Given the description of an element on the screen output the (x, y) to click on. 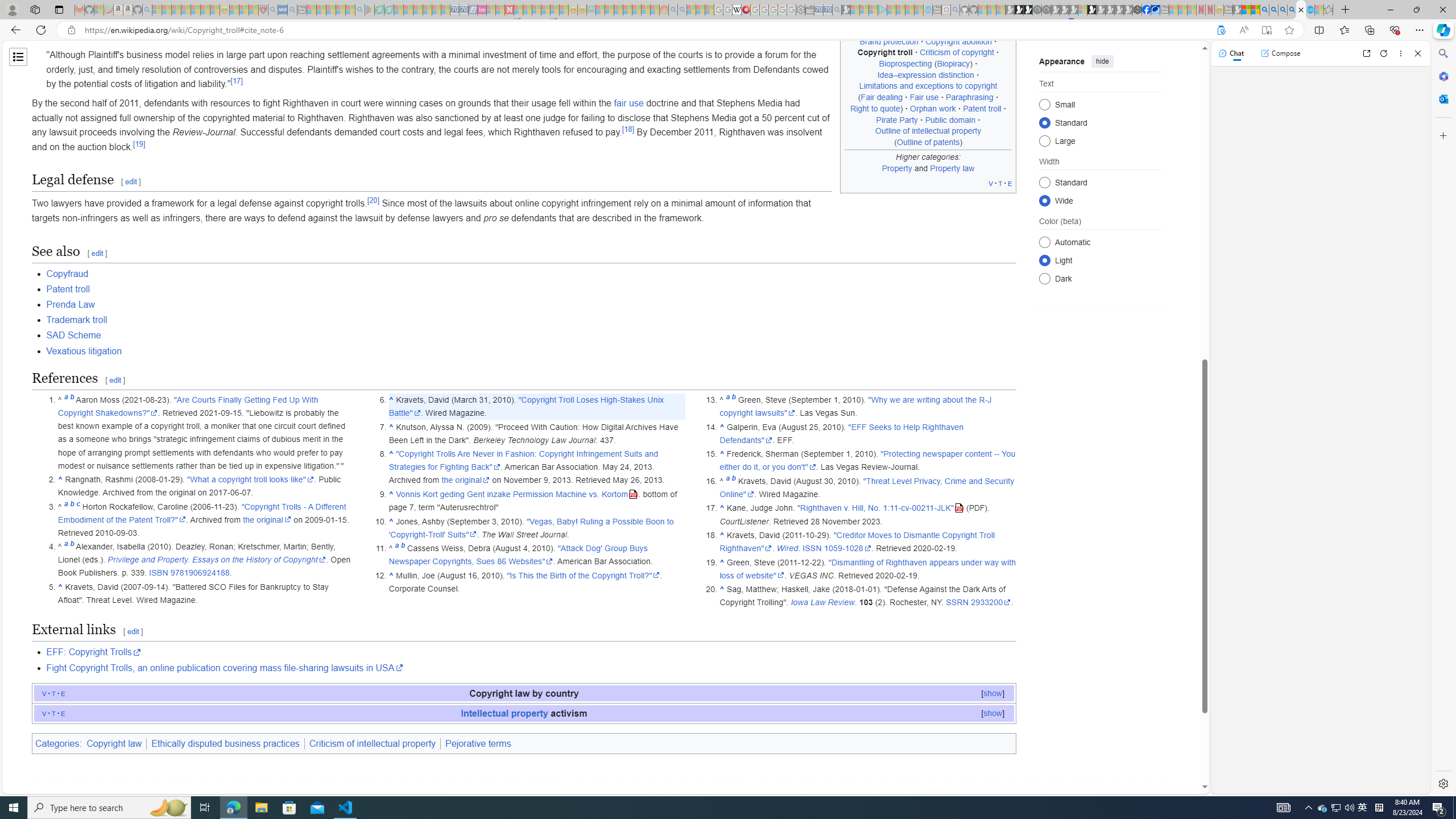
Utah sues federal government - Search - Sleeping (681, 9)
Bing Real Estate - Home sales and rental listings - Sleeping (836, 9)
